Given the description of an element on the screen output the (x, y) to click on. 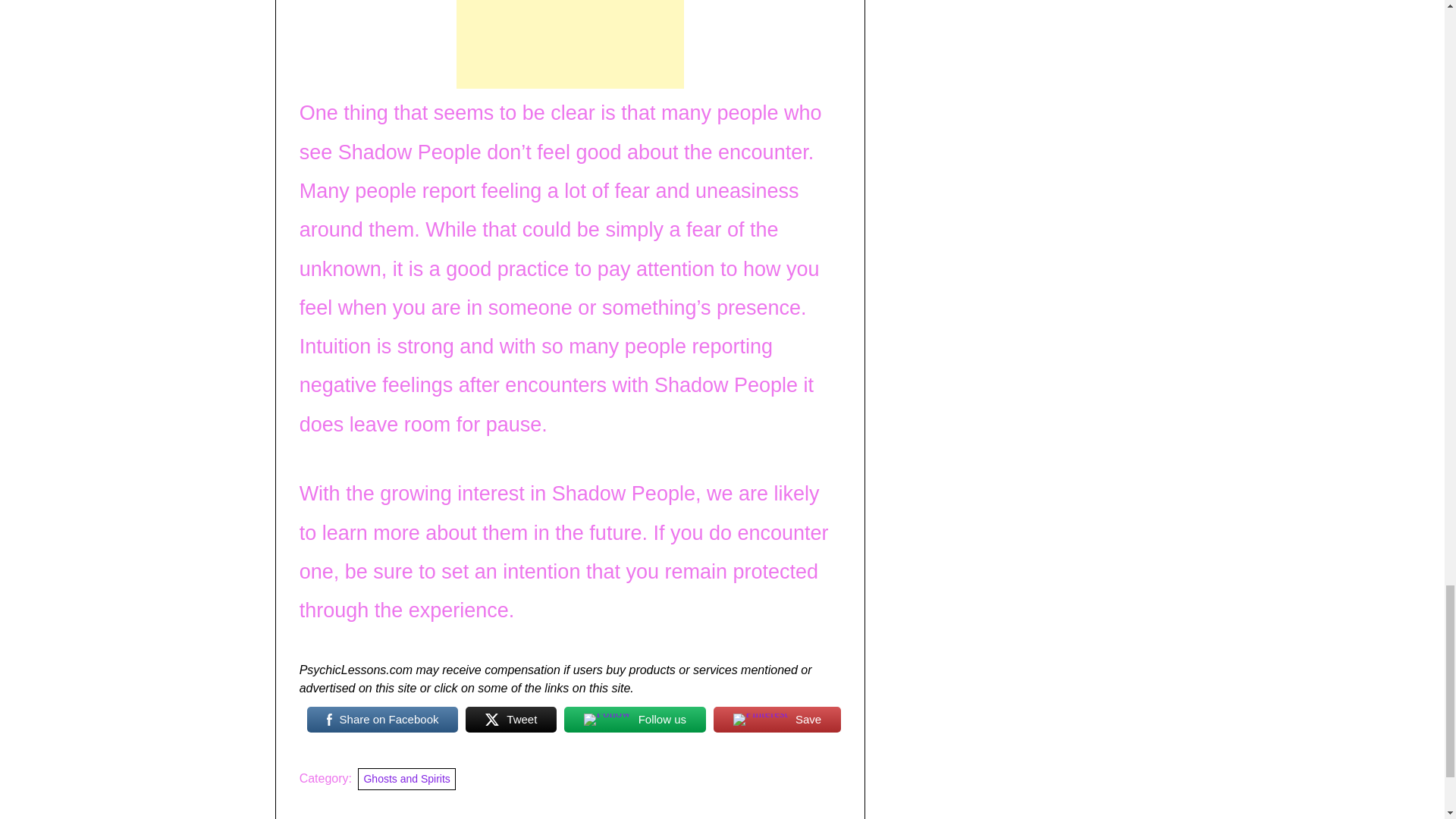
Save (777, 719)
Follow us (635, 719)
Tweet (510, 719)
Share on Facebook (382, 719)
Ghosts and Spirits (406, 779)
